Given the description of an element on the screen output the (x, y) to click on. 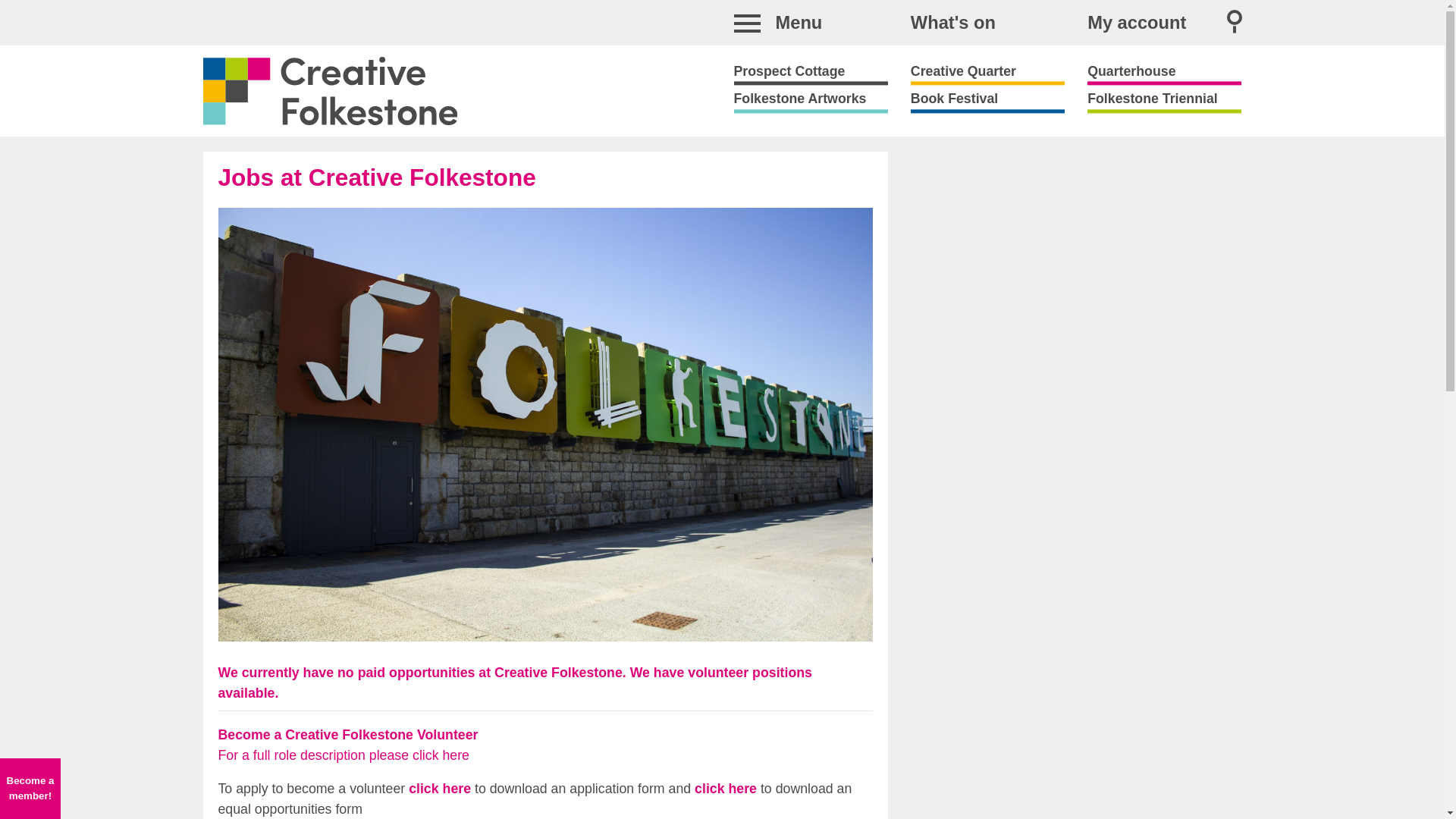
Creative Folkestone (329, 90)
What's on (953, 21)
My account (1136, 21)
Menu (810, 22)
